Given the description of an element on the screen output the (x, y) to click on. 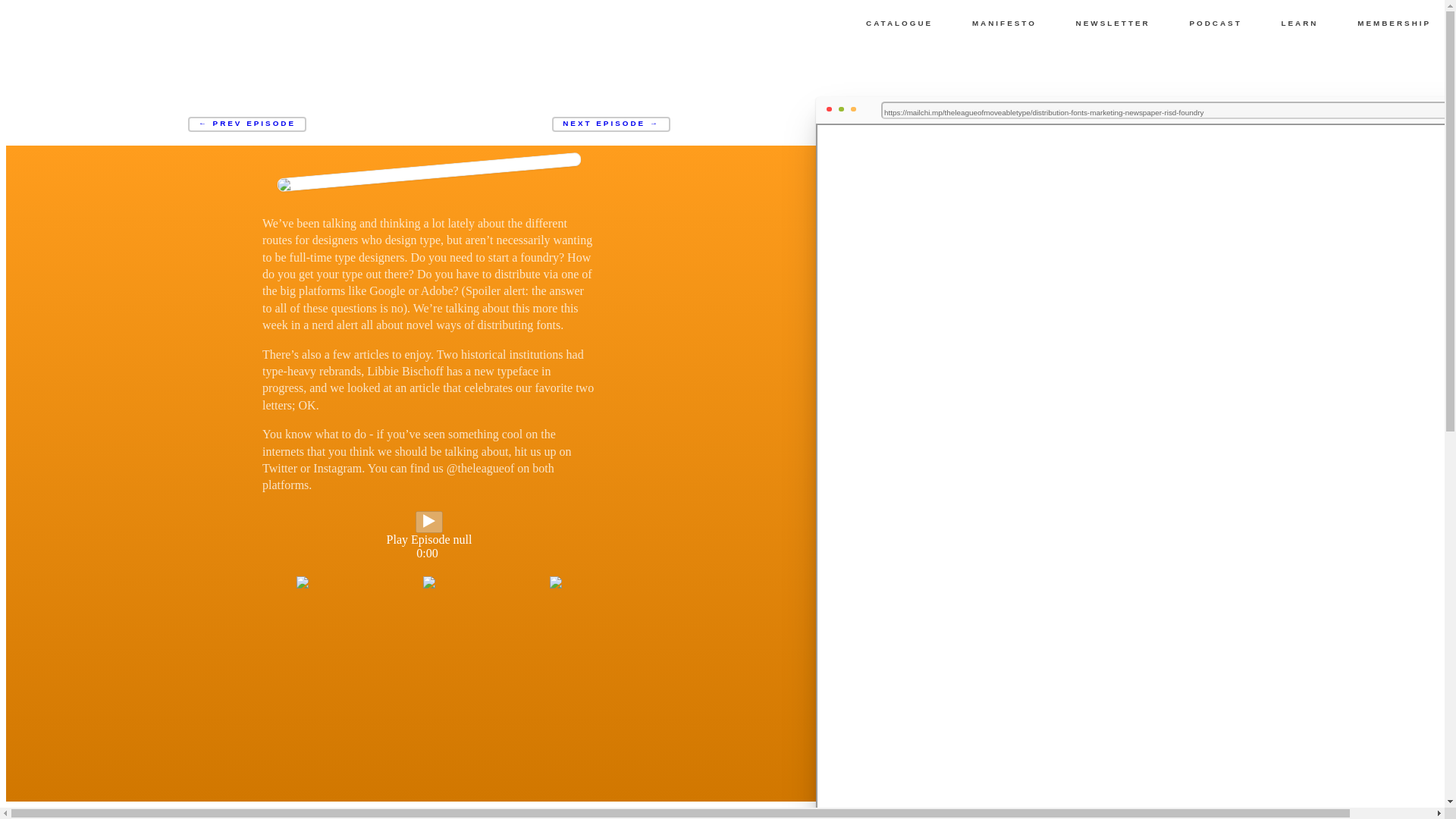
LEARN (1300, 23)
MEMBERSHIP (1393, 23)
NEWSLETTER (1112, 23)
PODCAST (1215, 23)
The League of Moveable Type (49, 27)
MANIFESTO (1003, 23)
CATALOGUE (899, 23)
